Given the description of an element on the screen output the (x, y) to click on. 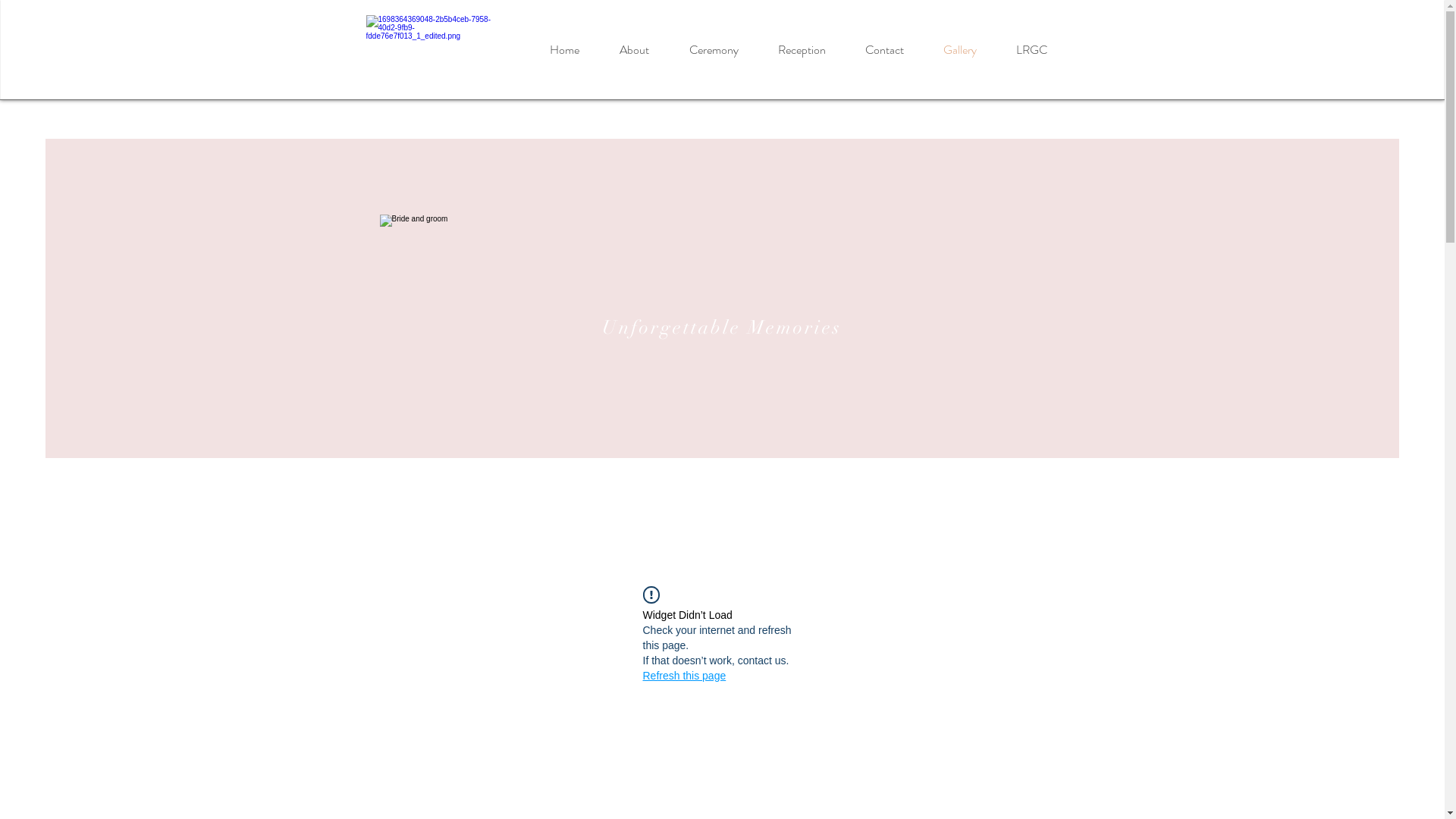
About Element type: text (633, 50)
LRGC Element type: text (1031, 50)
Contact Element type: text (883, 50)
Refresh this page Element type: text (684, 675)
Gallery Element type: text (959, 50)
Ceremony Element type: text (712, 50)
Reception Element type: text (801, 50)
Home Element type: text (564, 50)
